Given the description of an element on the screen output the (x, y) to click on. 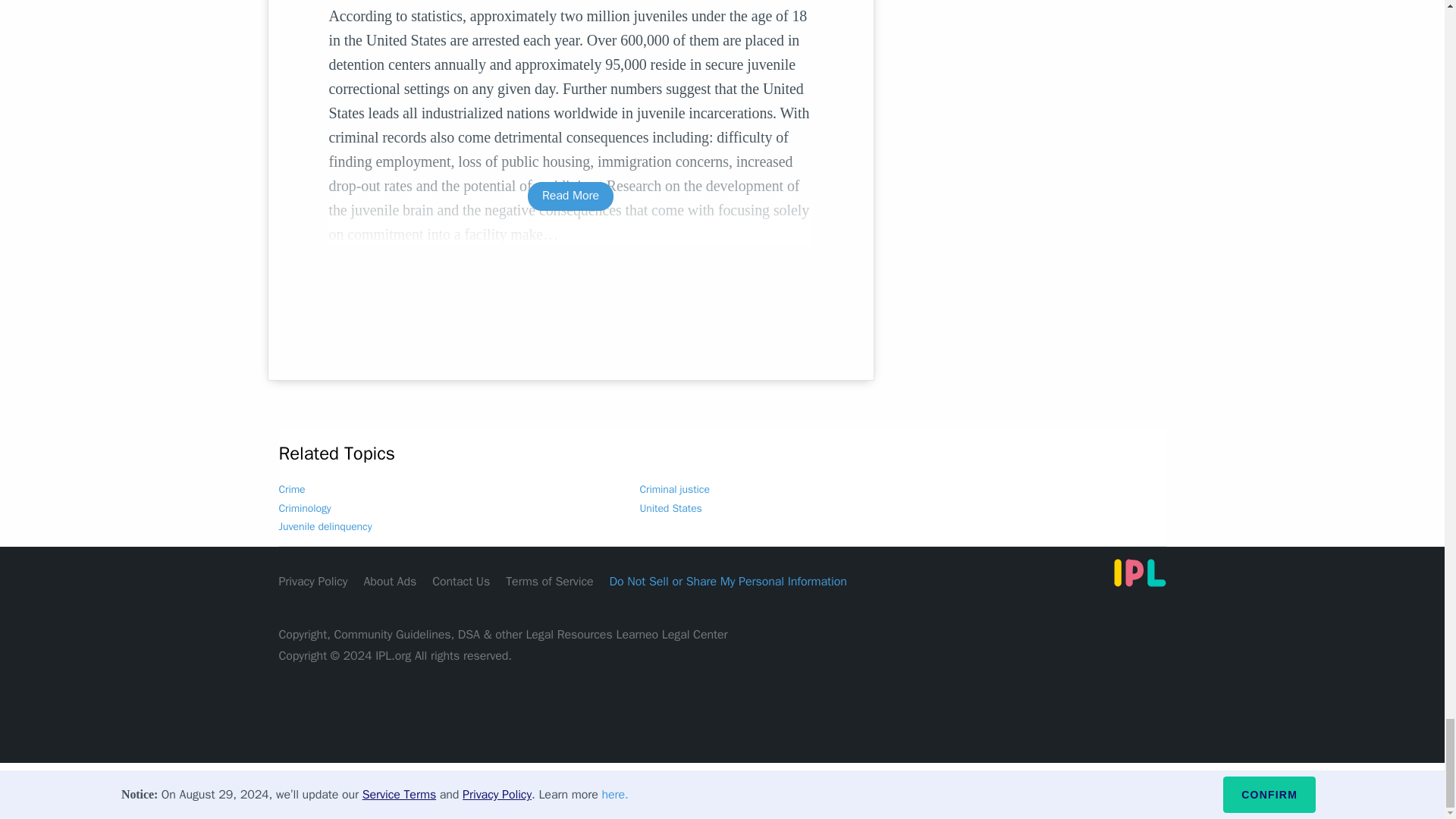
Terms of Service (548, 581)
Crime (292, 489)
Juvenile delinquency (325, 526)
Contact Us (460, 581)
Privacy Policy (313, 581)
About Ads (389, 581)
Criminal justice (675, 489)
Criminology (305, 508)
United States (670, 508)
